Given the description of an element on the screen output the (x, y) to click on. 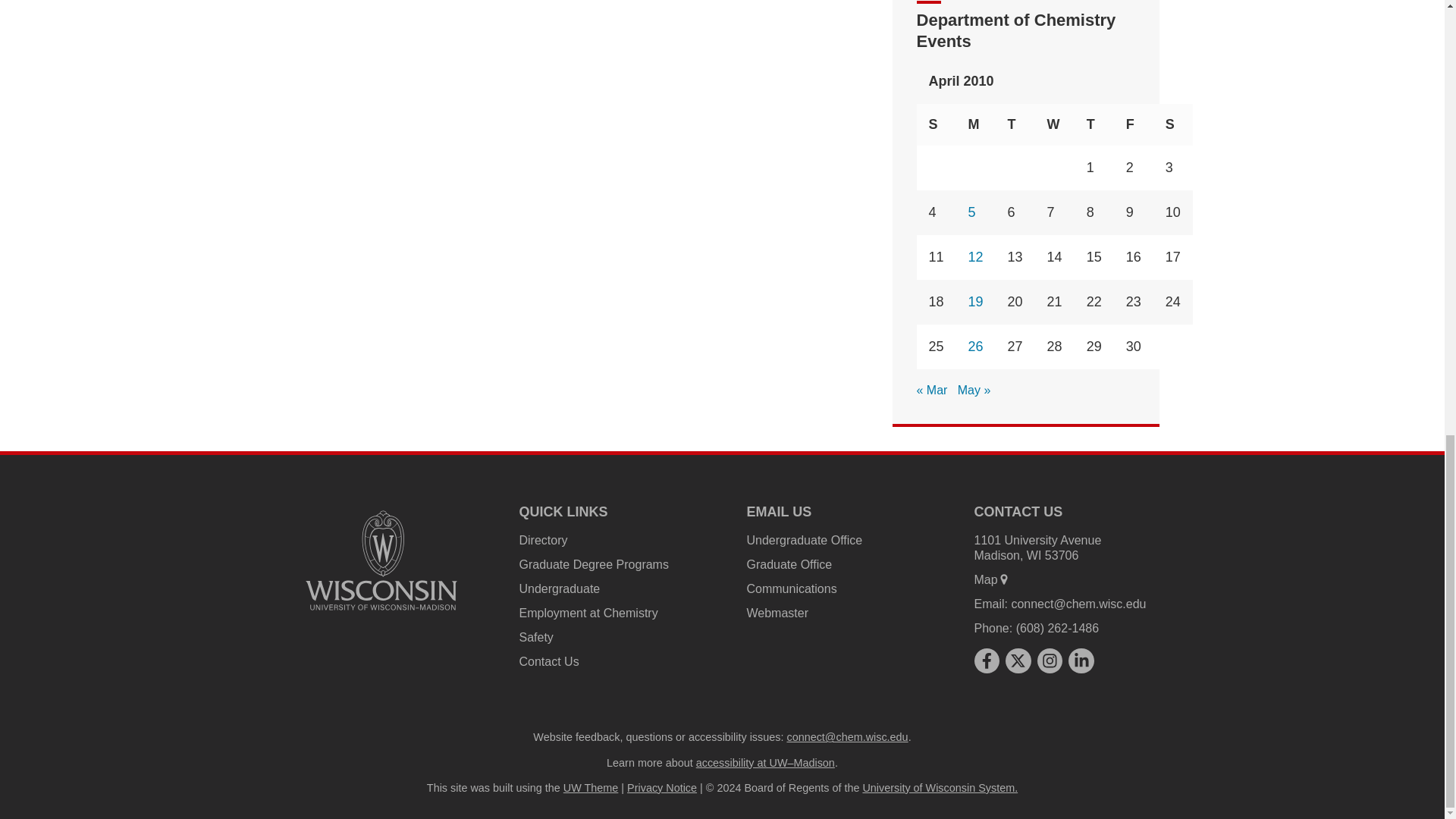
instagram (1049, 660)
facebook (986, 660)
Thursday (1093, 124)
University logo that links to main university website (380, 560)
x twitter (1018, 660)
Monday (975, 124)
Sunday (936, 124)
Tuesday (1015, 124)
Saturday (1172, 124)
Friday (1133, 124)
Wednesday (1054, 124)
linkedin (1081, 660)
map marker (1003, 579)
